Given the description of an element on the screen output the (x, y) to click on. 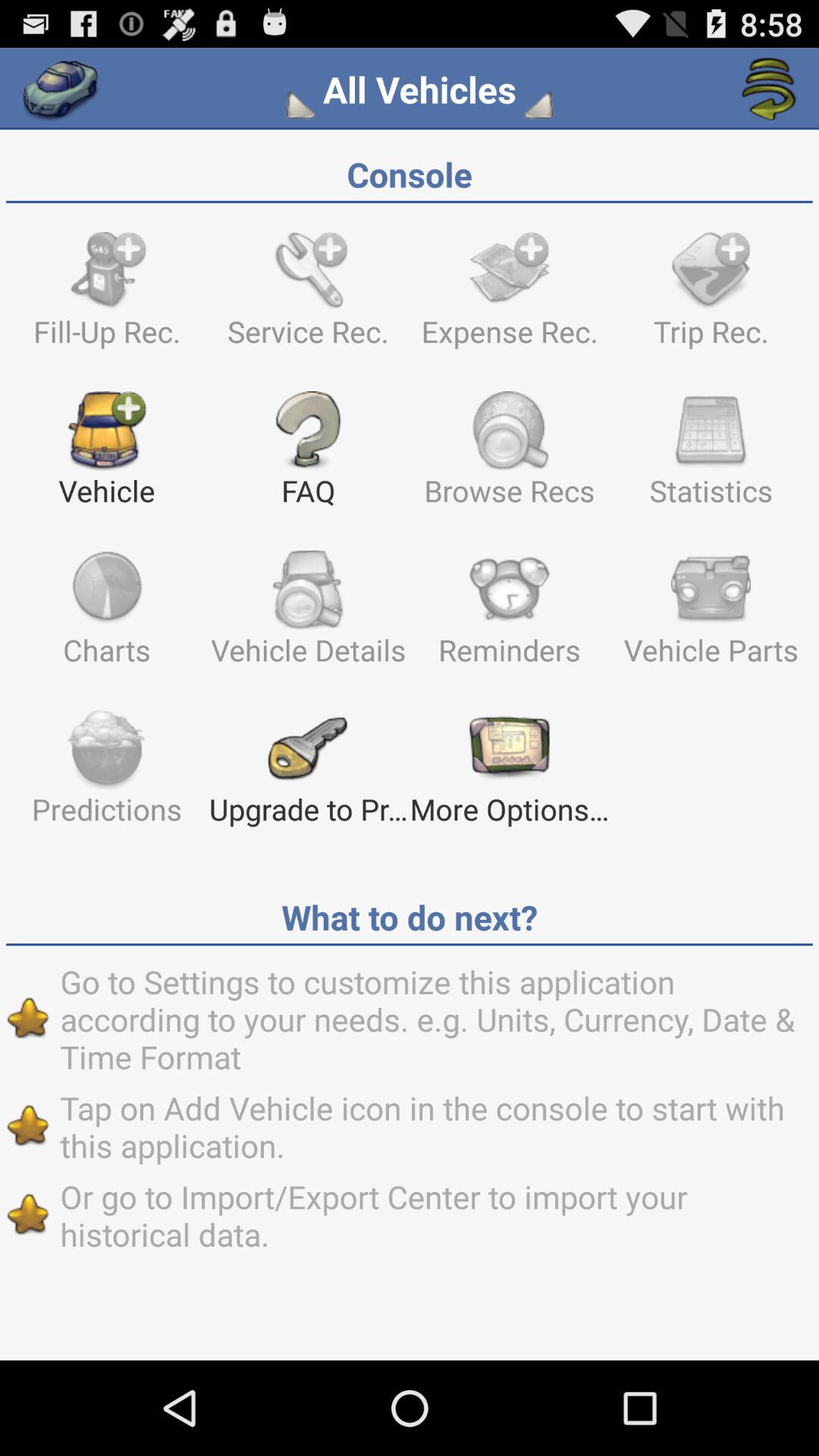
turn off the browse recs icon (509, 455)
